Given the description of an element on the screen output the (x, y) to click on. 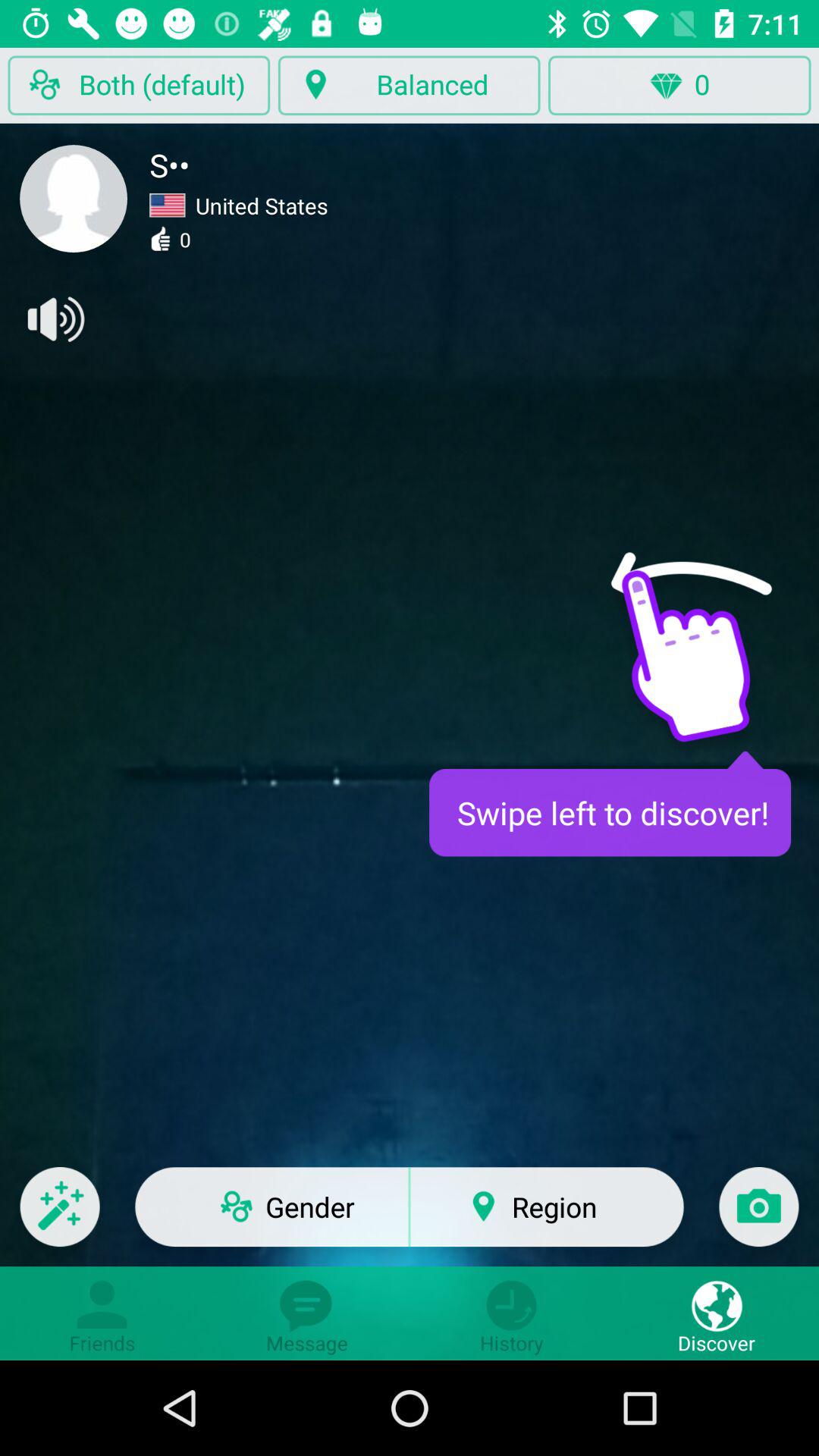
take photo (758, 1216)
